Given the description of an element on the screen output the (x, y) to click on. 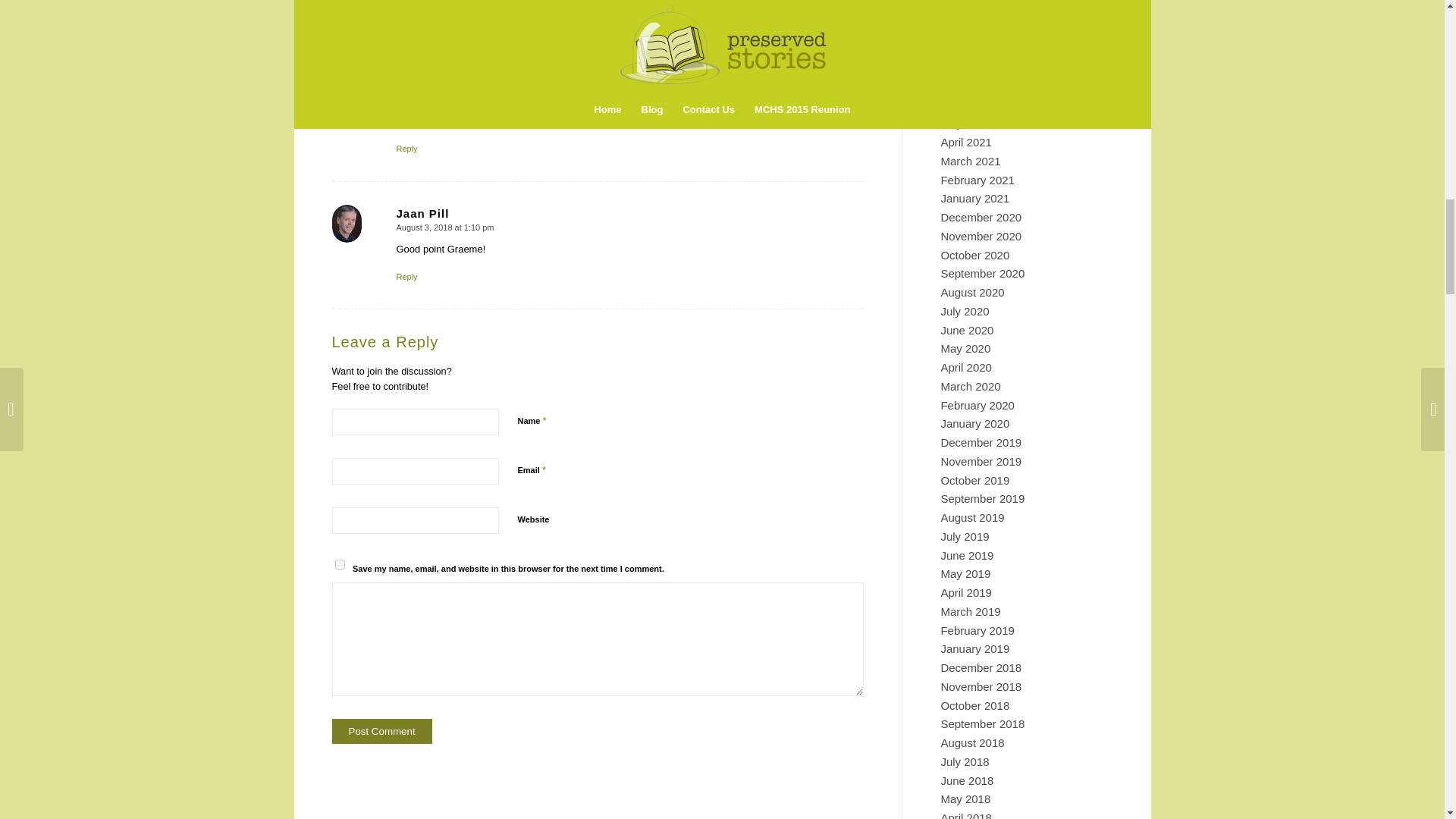
August 3, 2018 at 1:04 pm (444, 80)
Post Comment (381, 731)
August 3, 2018 at 1:10 pm (444, 226)
Post Comment (381, 731)
Reply (406, 276)
Reply (406, 148)
yes (339, 564)
